Given the description of an element on the screen output the (x, y) to click on. 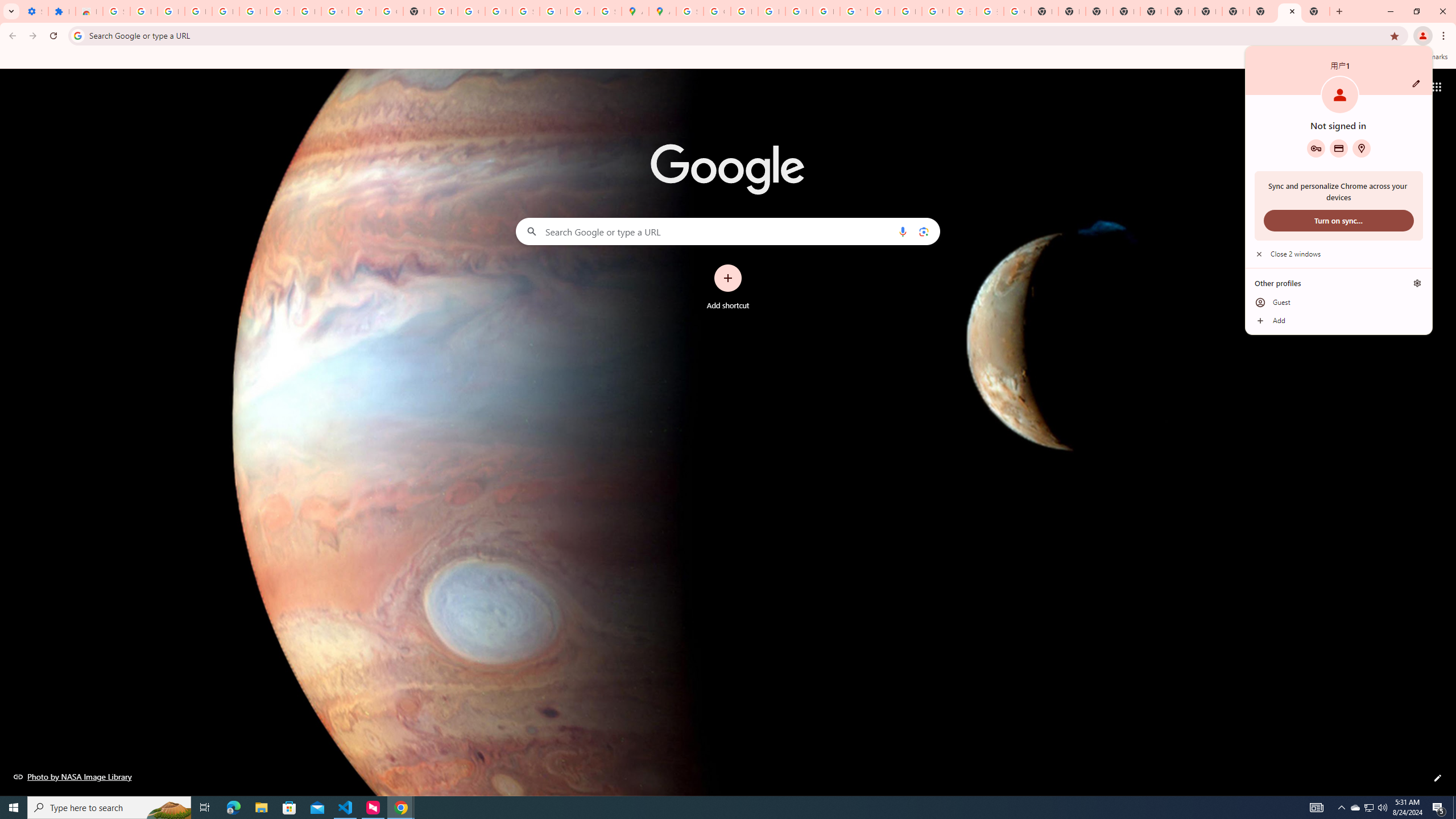
Action Center, 5 new notifications (1439, 807)
Microsoft Edge (233, 807)
Safety in Our Products - Google Safety Center (607, 11)
Visual Studio Code - 1 running window (345, 807)
Microsoft Store (289, 807)
Sign in - Google Accounts (116, 11)
Privacy Help Center - Policies Help (771, 11)
Search tabs (1368, 807)
Sign in - Google Accounts (10, 11)
File Explorer (525, 11)
Google Images (261, 807)
